Given the description of an element on the screen output the (x, y) to click on. 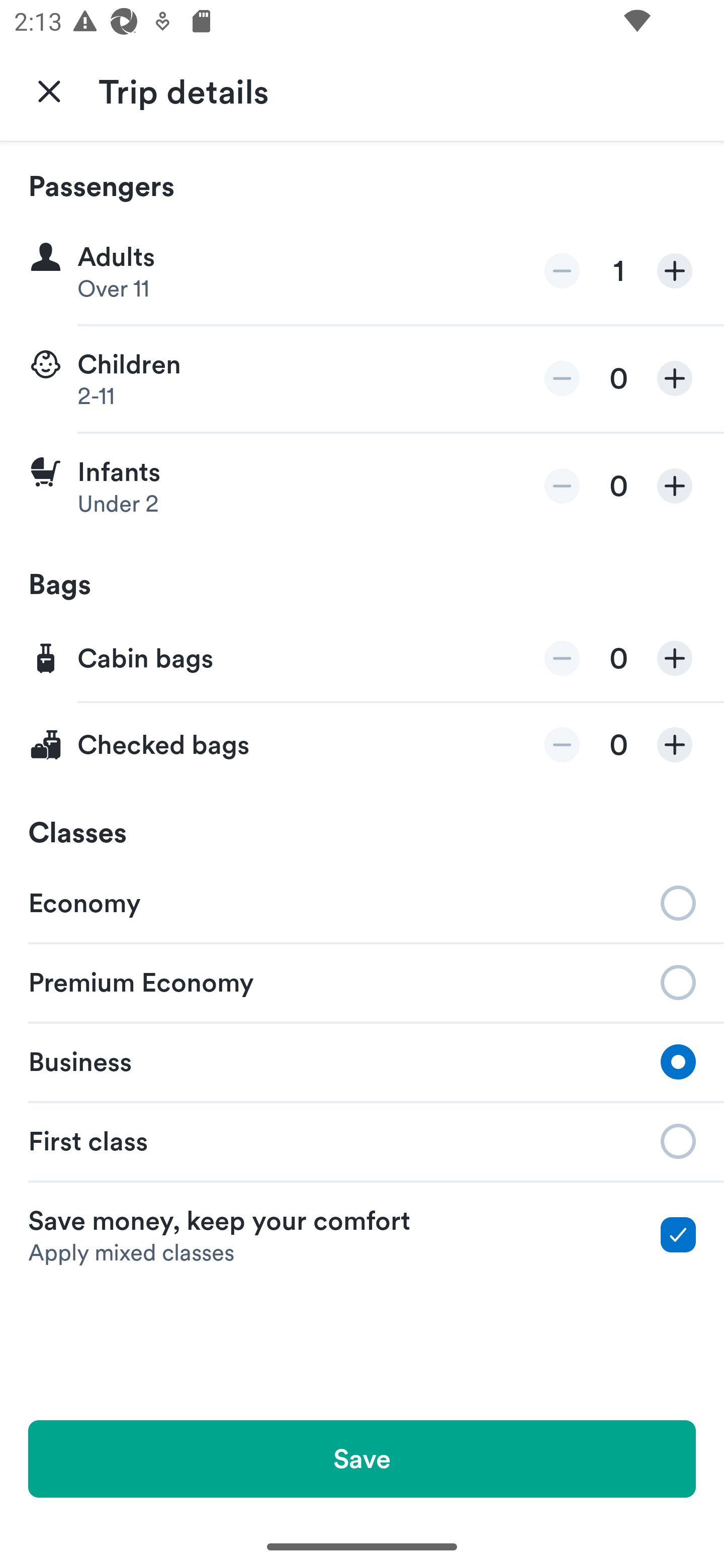
Navigate up (49, 90)
Remove 1 Add Adults Over 11 (362, 271)
Remove (561, 270)
Add (674, 270)
Remove 0 Add Children 2-11 (362, 379)
Remove (561, 377)
Add (674, 377)
Remove 0 Add Infants Under 2 (362, 485)
Remove (561, 485)
Add (674, 485)
Remove 0 Add Cabin bags (362, 659)
Remove (561, 658)
Add (674, 658)
Remove 0 Add Checked bags (362, 744)
Remove (561, 744)
Add (674, 744)
Economy (362, 901)
Premium Economy (362, 980)
First class (362, 1141)
Save (361, 1458)
